Given the description of an element on the screen output the (x, y) to click on. 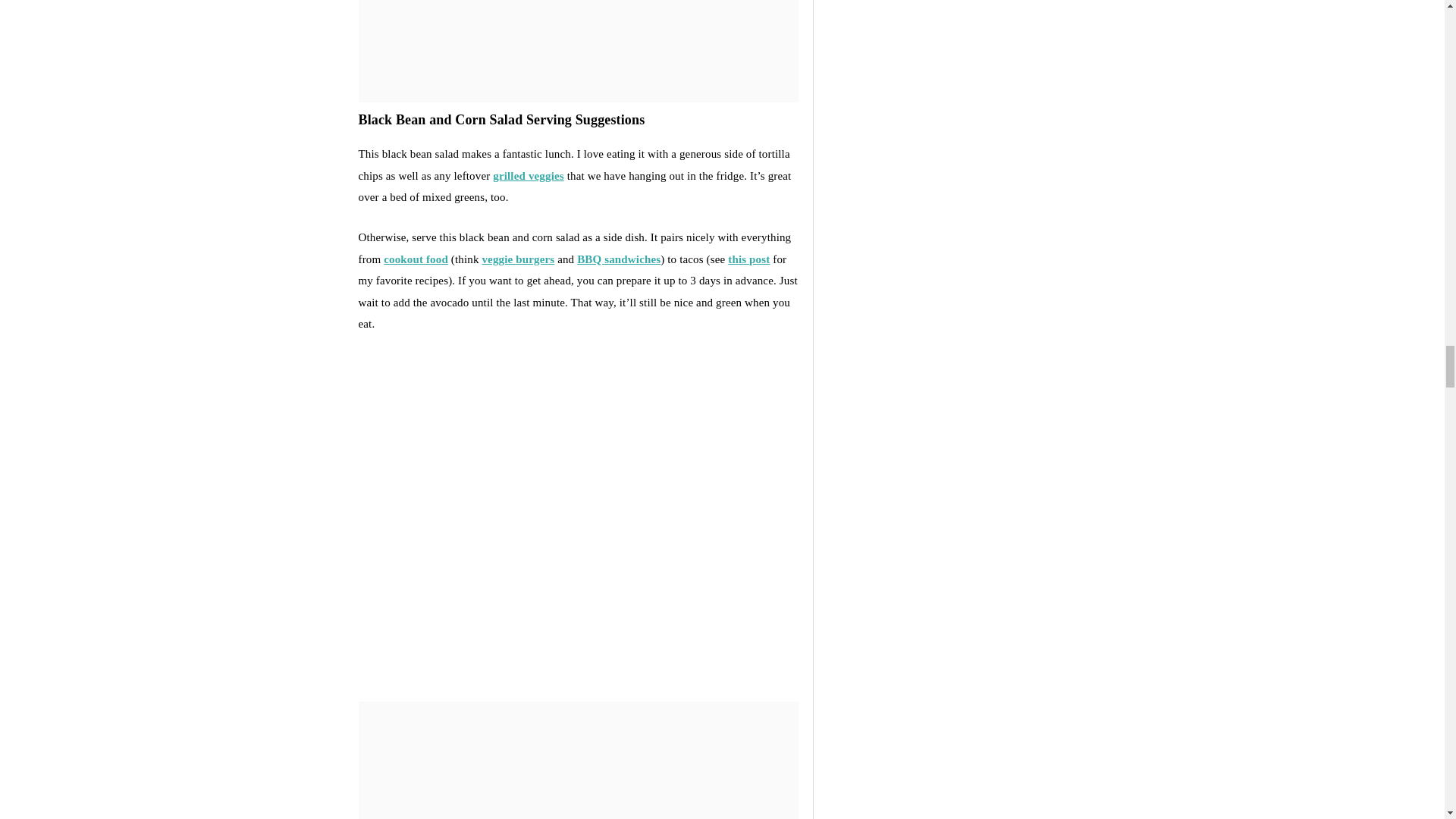
BBQ sandwiches (618, 259)
veggie burgers (517, 259)
cookout food (416, 259)
grilled veggies (528, 175)
this post (749, 259)
